Given the description of an element on the screen output the (x, y) to click on. 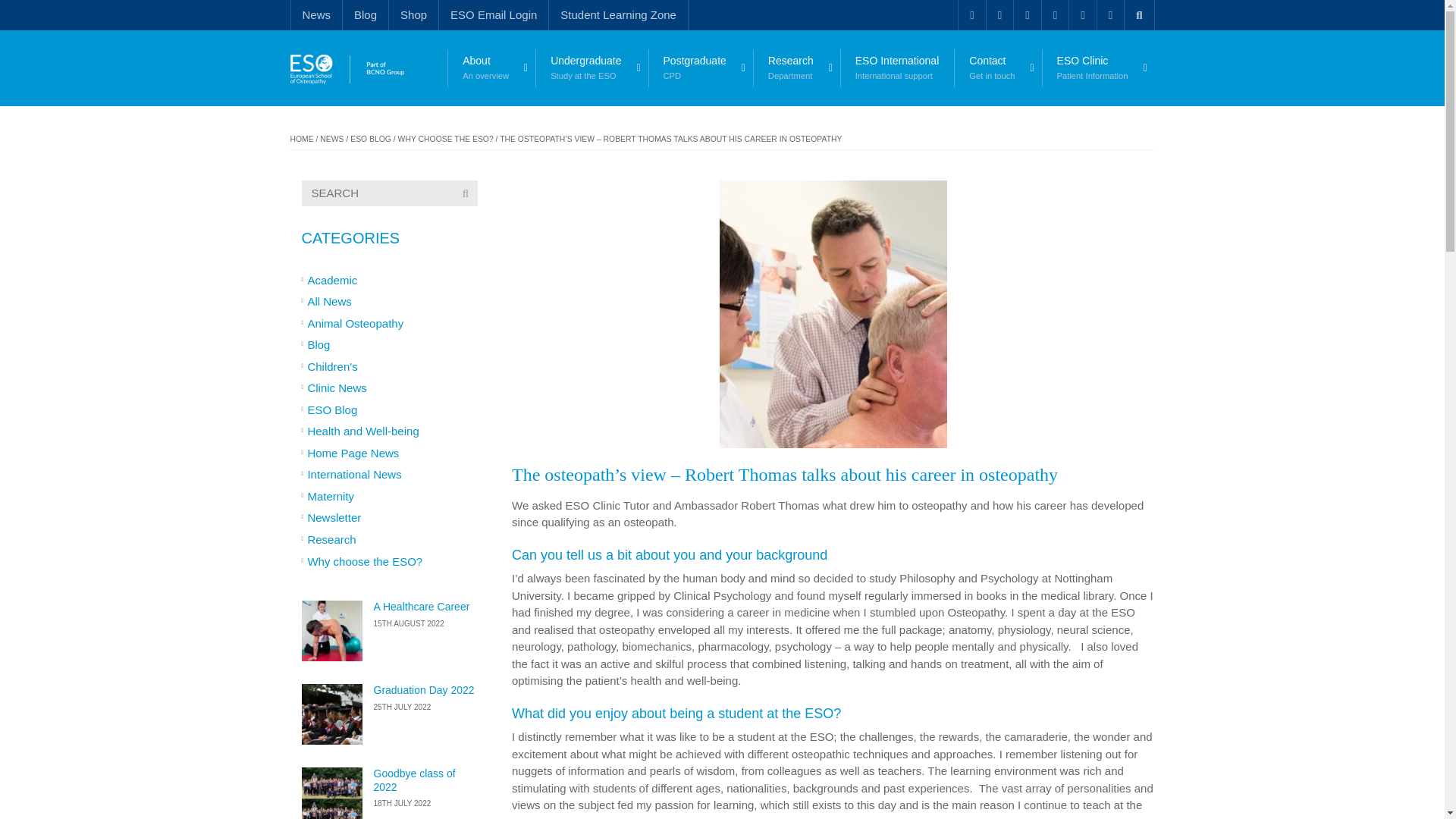
Shop (413, 15)
Graduation Day 2022 (331, 713)
Robert Thomas talks about his career in osteopathy (346, 67)
A Healthcare Career (420, 606)
A Healthcare Career (331, 630)
Graduation Day 2022 (423, 689)
ESO Email Login (493, 15)
Student Learning Zone (618, 15)
Blog (365, 15)
News (315, 15)
